Given the description of an element on the screen output the (x, y) to click on. 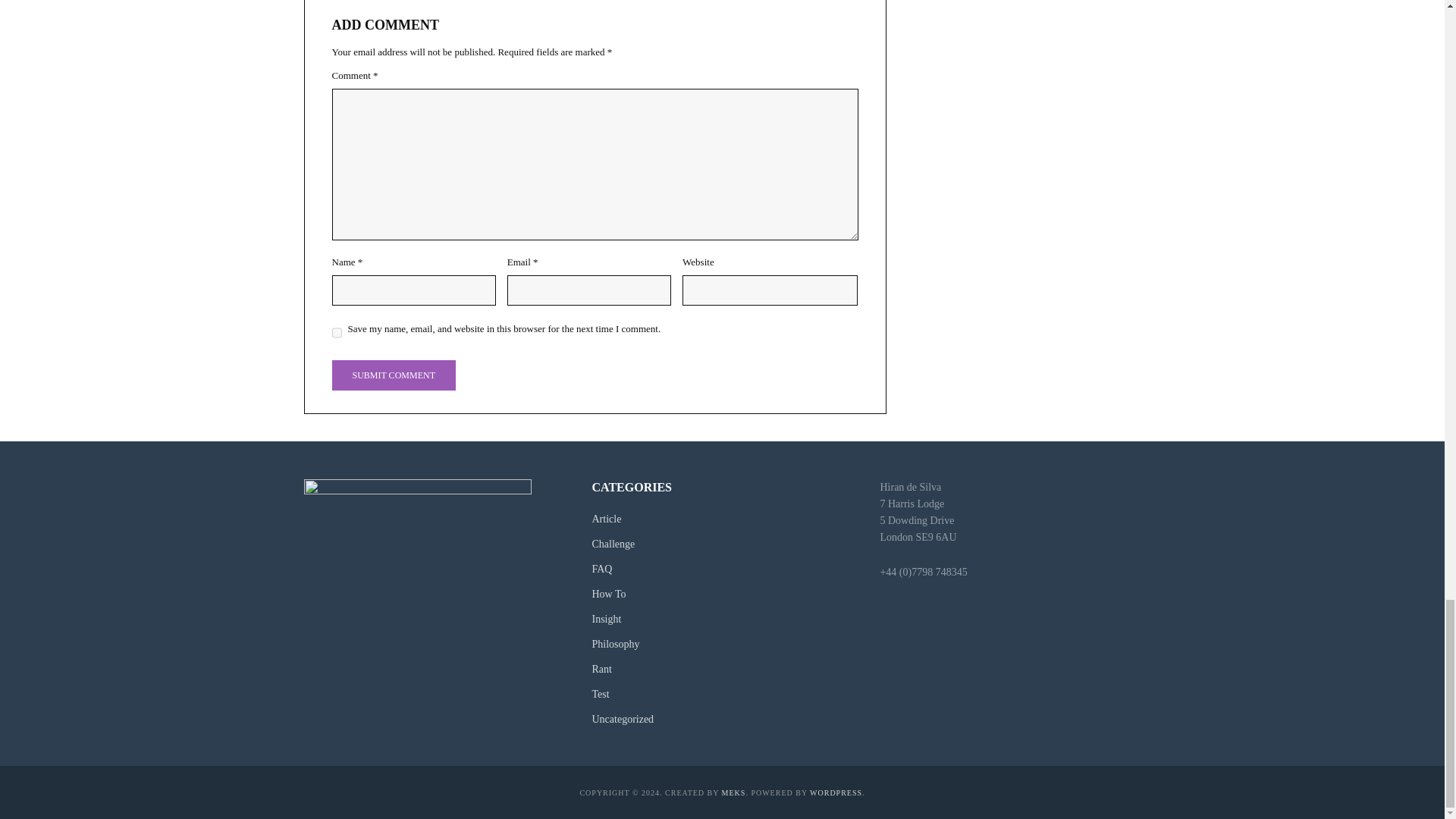
Submit Comment (393, 375)
